Given the description of an element on the screen output the (x, y) to click on. 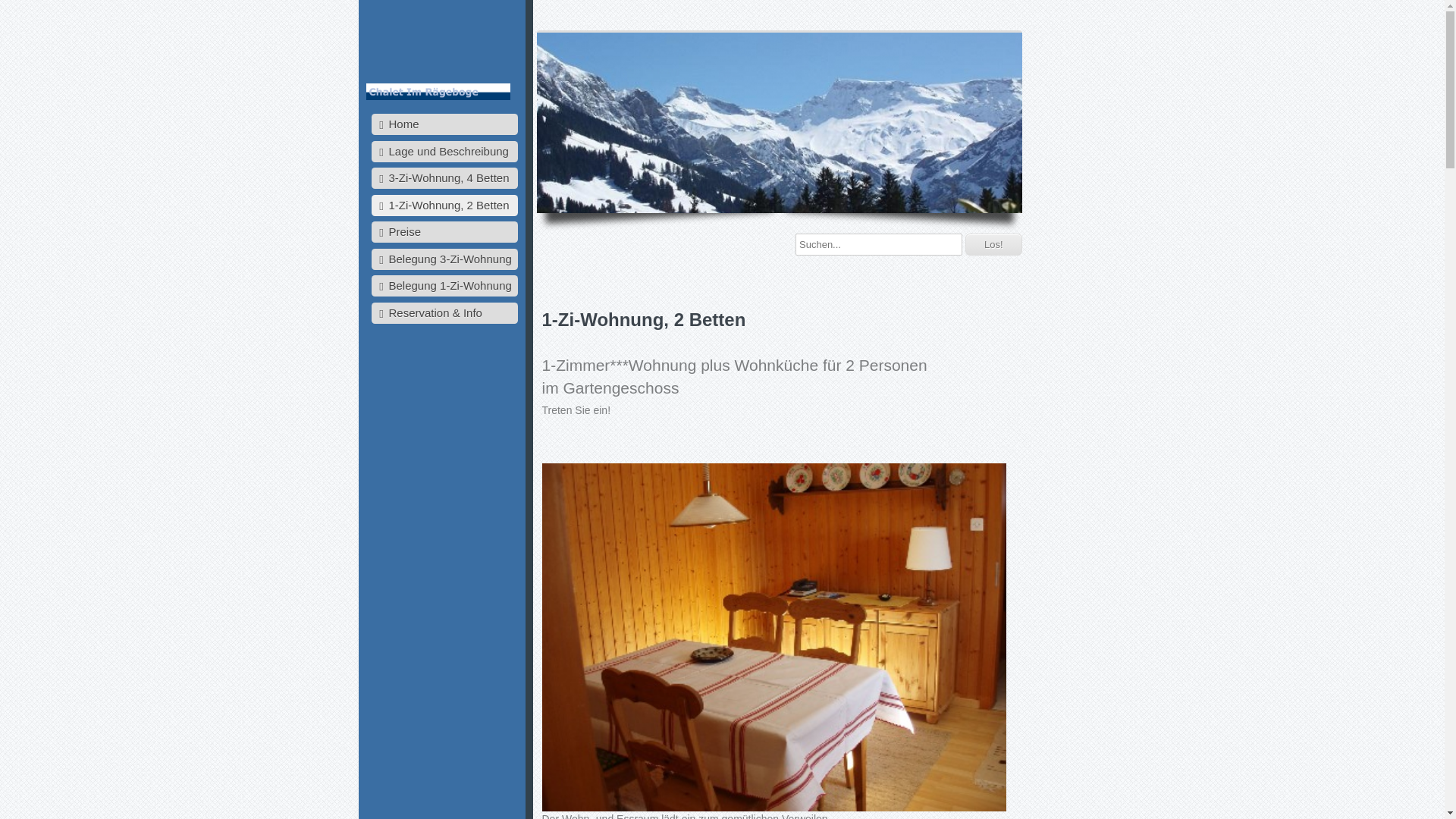
Home Element type: text (444, 123)
3-Zi-Wohnung, 4 Betten Element type: text (444, 177)
Reservation & Info Element type: text (444, 312)
Los! Element type: text (993, 244)
1-Zi-Wohnung, 2 Betten Element type: text (444, 204)
Preise Element type: text (444, 231)
Belegung 3-Zi-Wohnung Element type: text (444, 258)
Lage und Beschreibung Element type: text (444, 151)
Belegung 1-Zi-Wohnung Element type: text (444, 285)
